Given the description of an element on the screen output the (x, y) to click on. 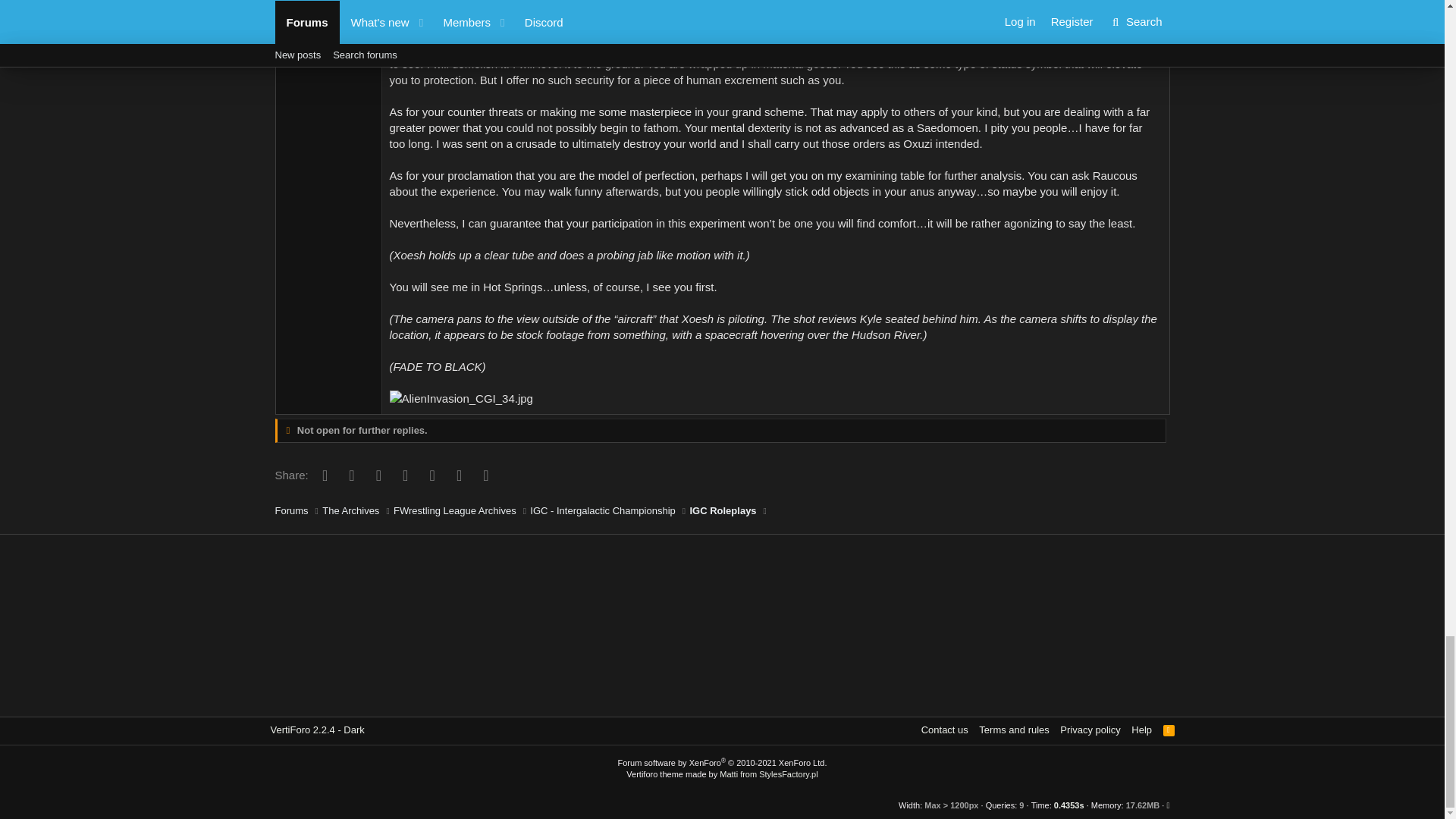
Style chooser (316, 729)
Responsive width (939, 804)
RSS (1168, 729)
